Given the description of an element on the screen output the (x, y) to click on. 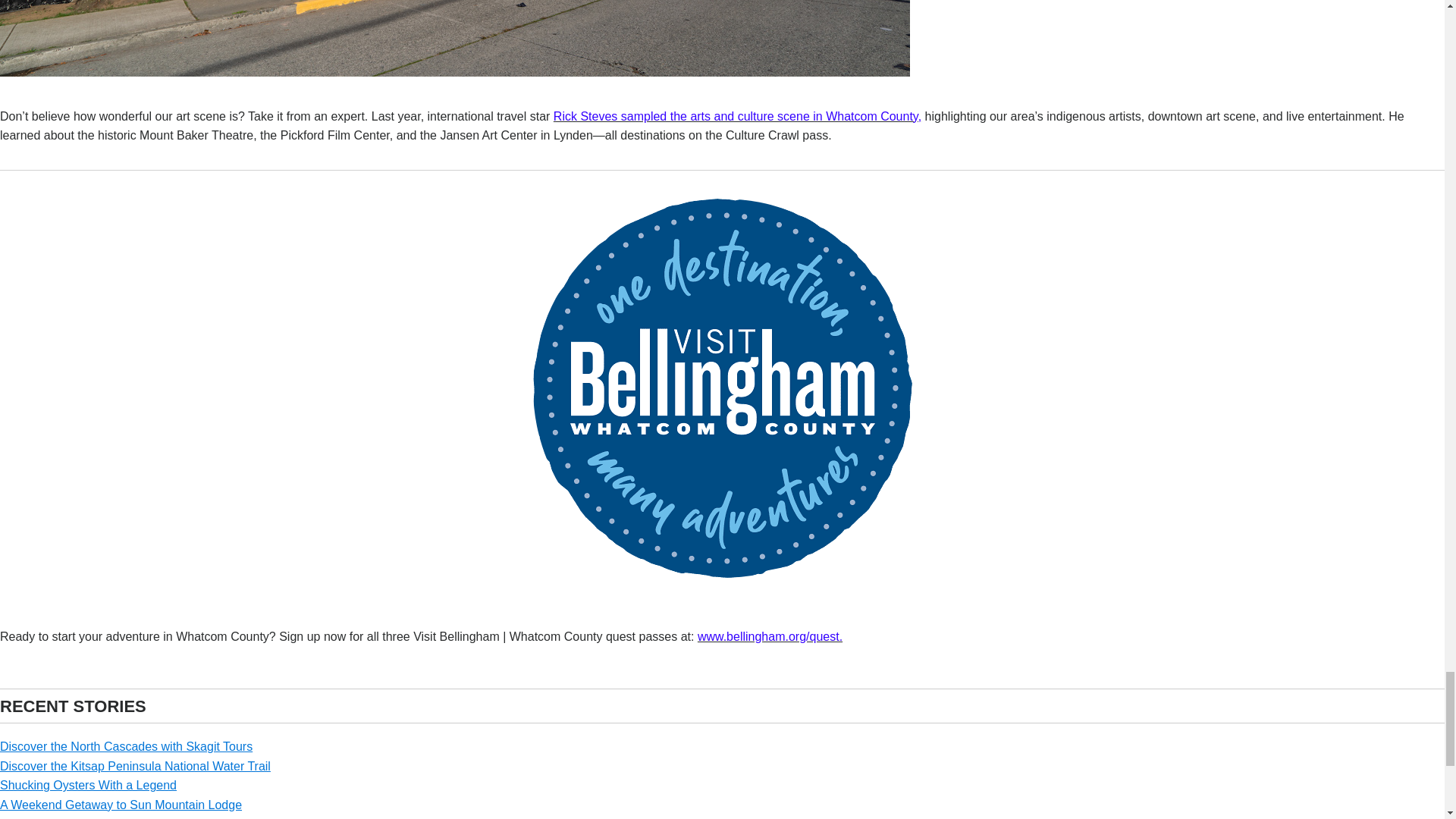
Discover the North Cascades with Skagit Tours (125, 746)
A Weekend Getaway to Sun Mountain Lodge (120, 804)
Shucking Oysters With a Legend (88, 784)
Bellingham Whatcom (721, 585)
Discover the Kitsap Peninsula National Water Trail (135, 766)
